Given the description of an element on the screen output the (x, y) to click on. 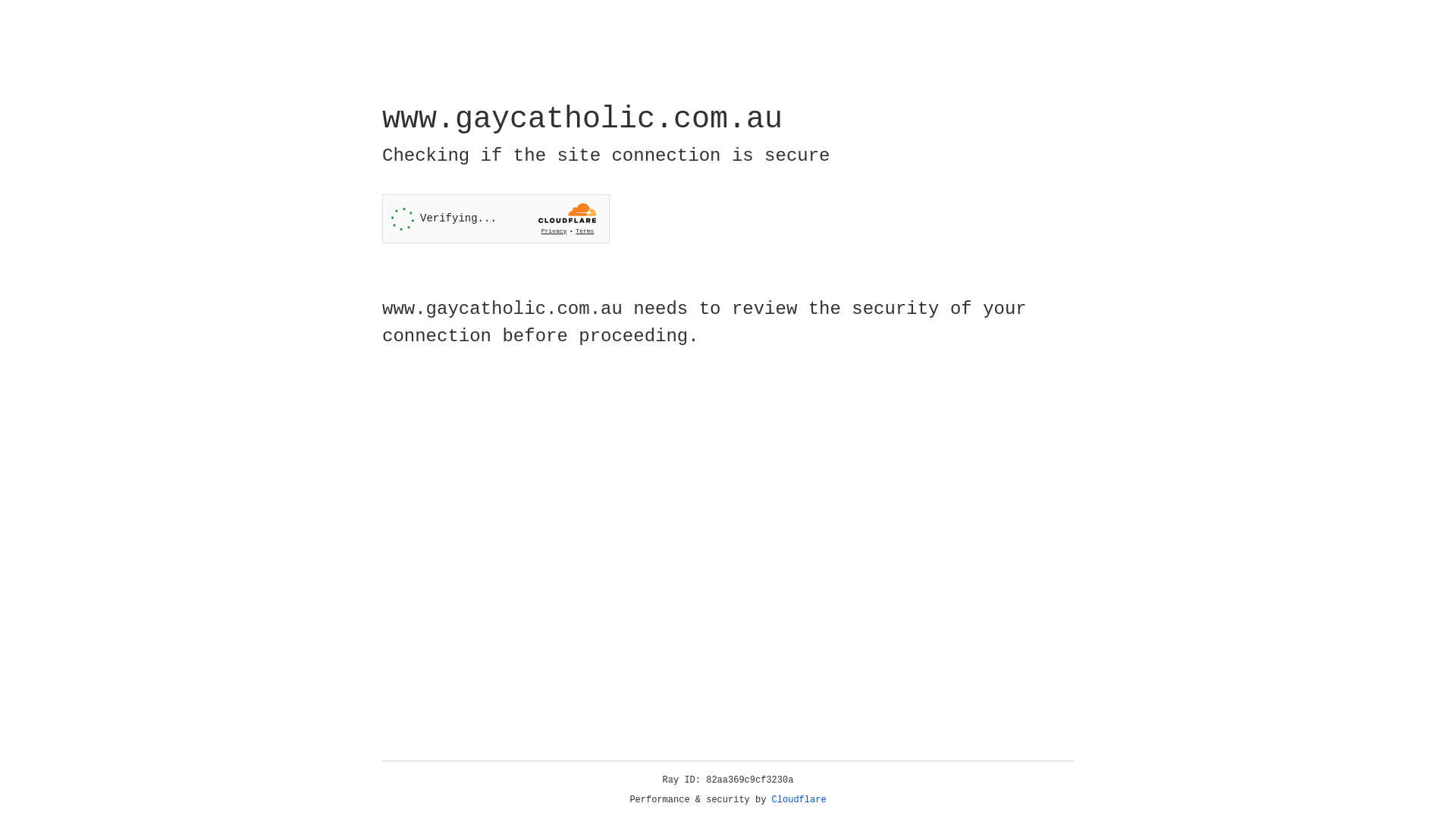
Widget containing a Cloudflare security challenge Element type: hover (495, 218)
Cloudflare Element type: text (798, 799)
